Given the description of an element on the screen output the (x, y) to click on. 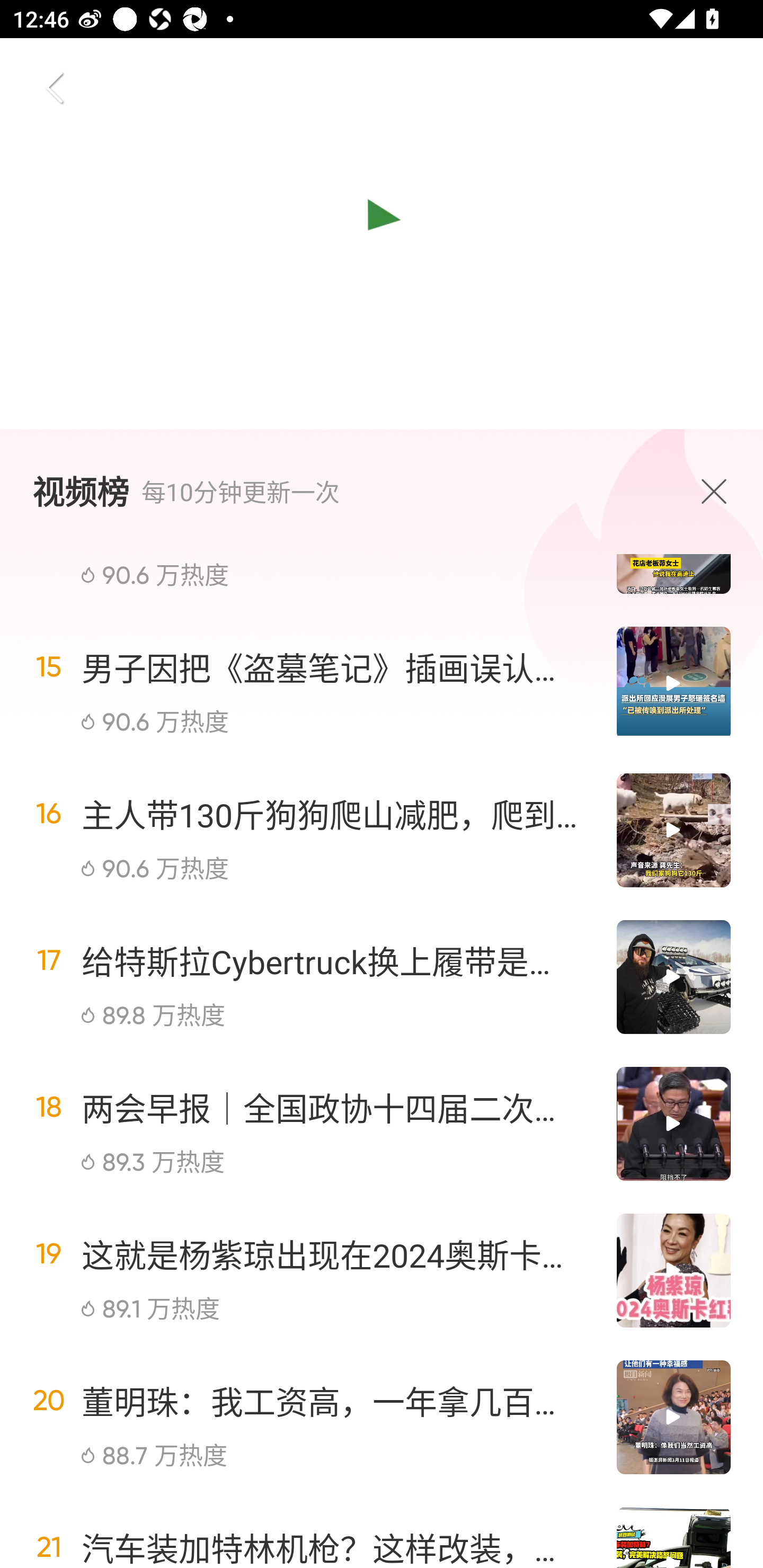
 返回 (54, 87)
 (718, 491)
16 主人带130斤狗狗爬山减肥，爬到一半爬不动被抬下山 90.6 万热度 (381, 830)
17 给特斯拉Cybertruck换上履带是什么体验？简直不要太疯狂 89.8 万热度 (381, 976)
18 两会早报｜全国政协十四届二次会议今日闭幕！最后一场“委员通道”说什么? 89.3 万热度 (381, 1123)
19 这就是杨紫琼出现在2024奥斯卡红毯的原因！好温暖好感动好成功 89.1 万热度 (381, 1270)
